Given the description of an element on the screen output the (x, y) to click on. 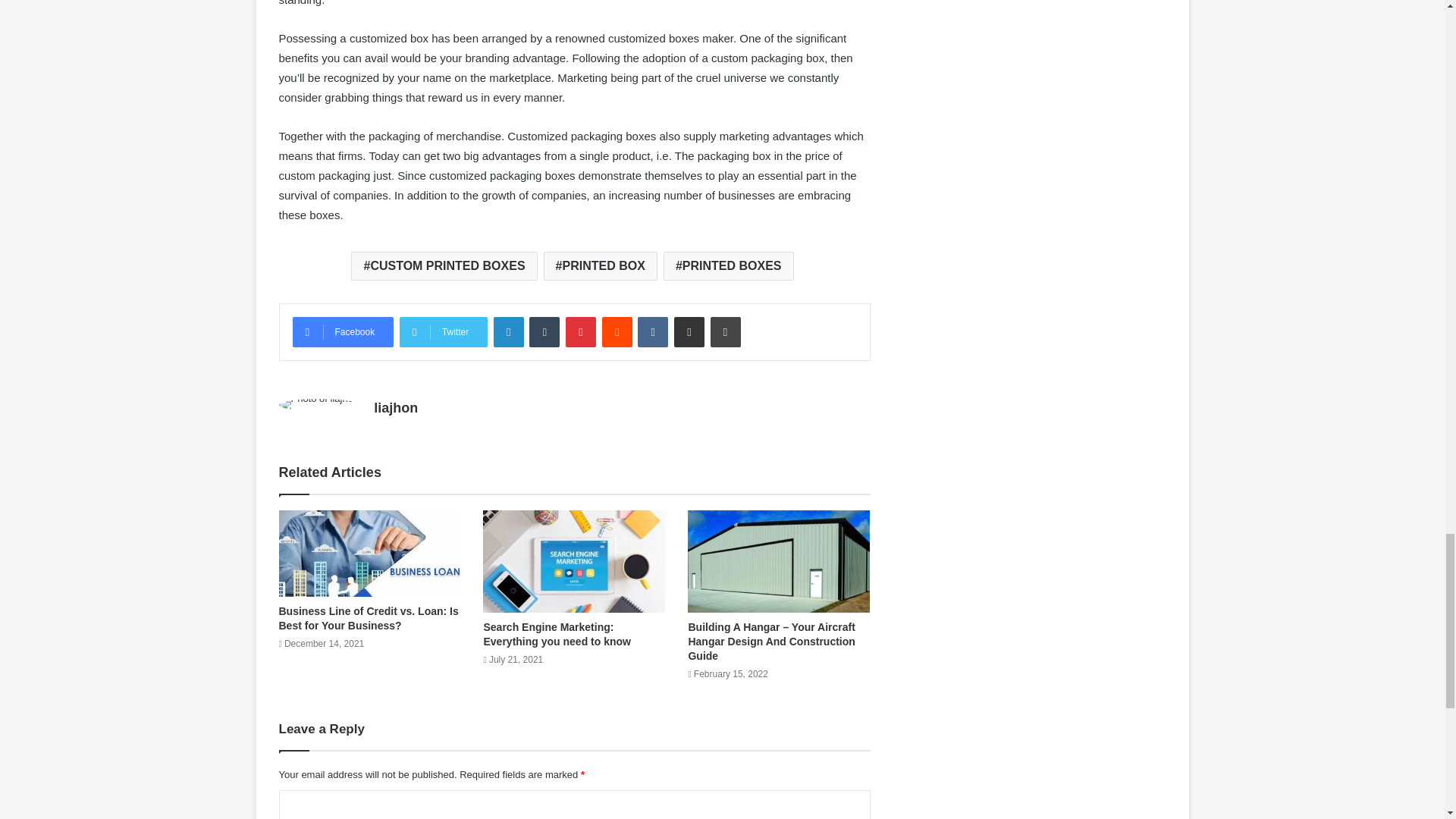
LinkedIn (508, 331)
Twitter (442, 331)
Tumblr (544, 331)
Tumblr (544, 331)
Facebook (343, 331)
PRINTED BOXES (728, 265)
liajhon (395, 407)
Facebook (343, 331)
CUSTOM PRINTED BOXES (443, 265)
PRINTED BOX (600, 265)
Twitter (442, 331)
Pinterest (580, 331)
Reddit (616, 331)
Business Line of Credit vs. Loan: Is Best for Your Business? (368, 618)
VKontakte (652, 331)
